Given the description of an element on the screen output the (x, y) to click on. 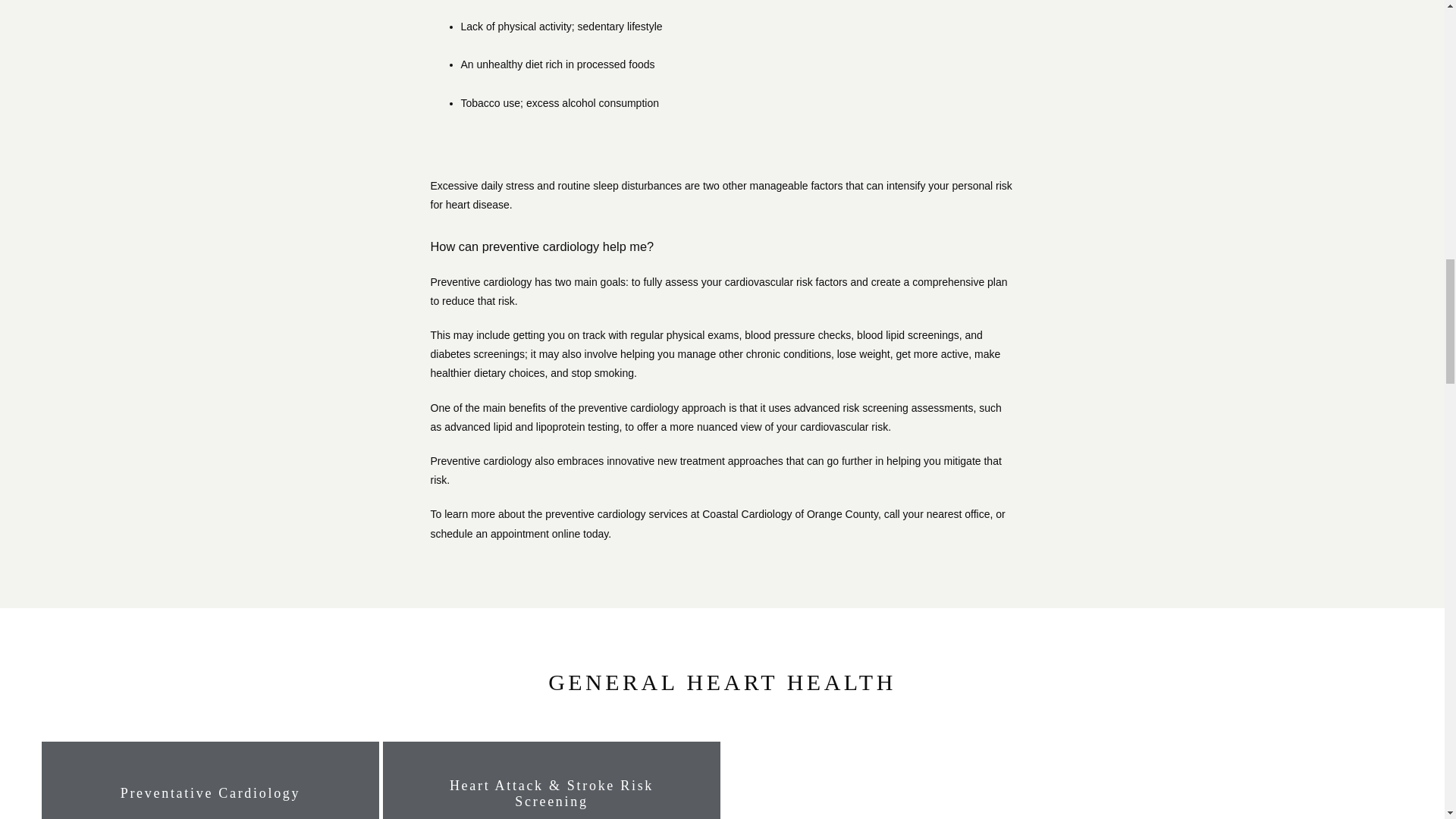
Preventative Cardiology (210, 793)
